Given the description of an element on the screen output the (x, y) to click on. 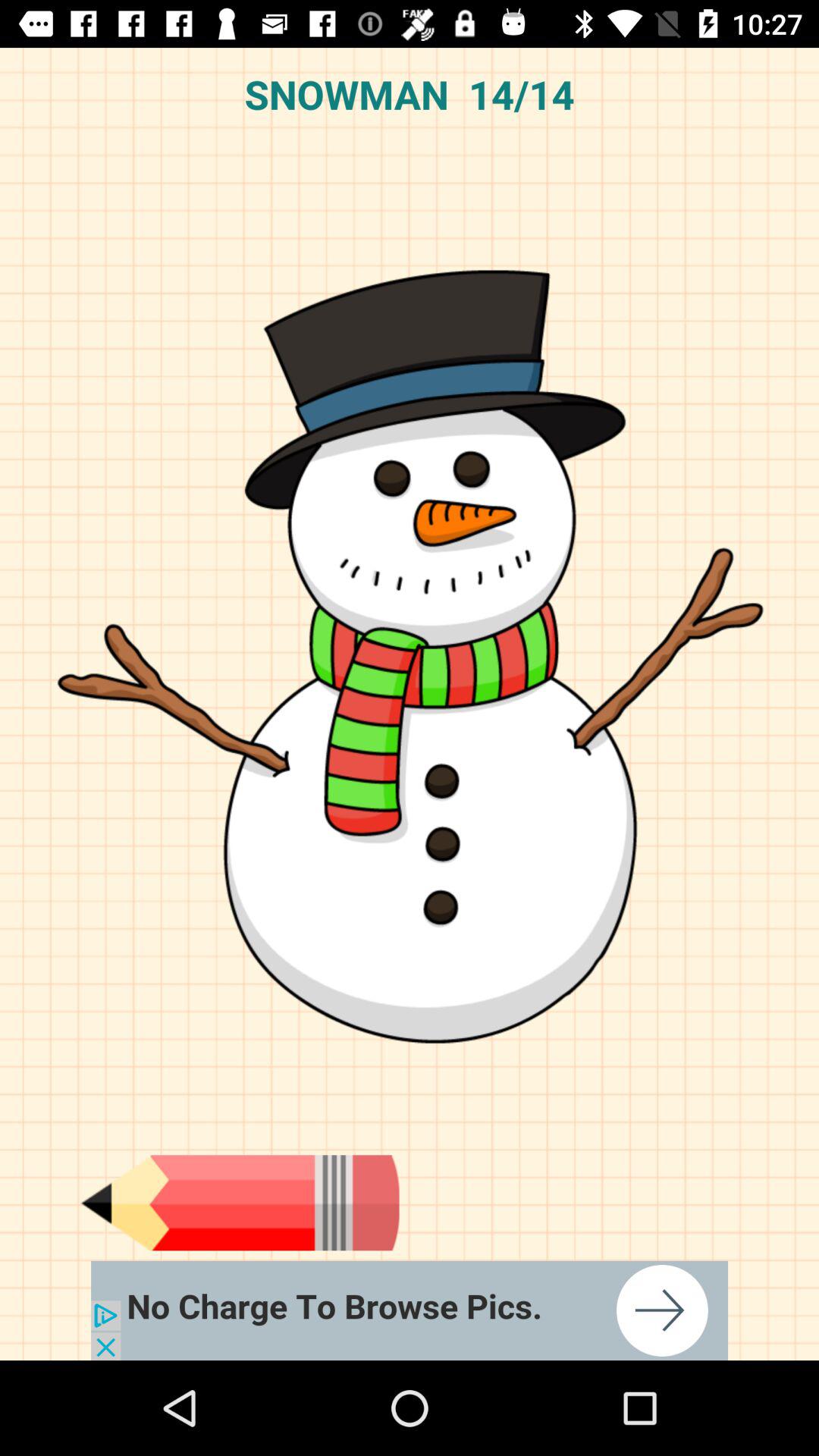
google advertisements (409, 1310)
